Given the description of an element on the screen output the (x, y) to click on. 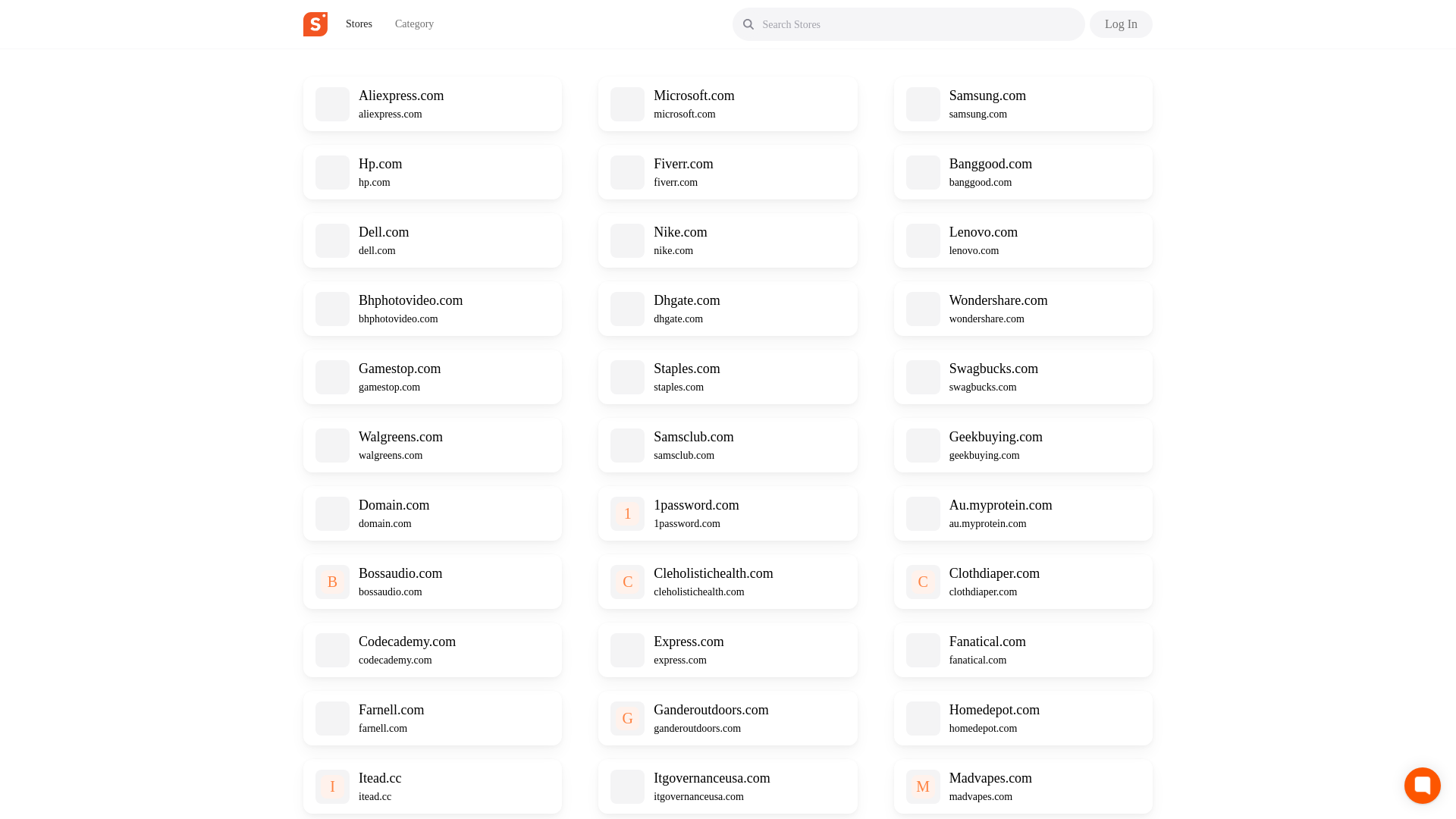
Wondershare.com (998, 299)
Fanatical.com (987, 641)
Au.myprotein.com (1000, 504)
Codecademy.com (406, 641)
Clothdiaper.com (994, 572)
Fiverr.com (683, 163)
Microsoft.com (693, 95)
Geekbuying.com (995, 436)
1password.com (695, 504)
Walgreens.com (400, 436)
